Given the description of an element on the screen output the (x, y) to click on. 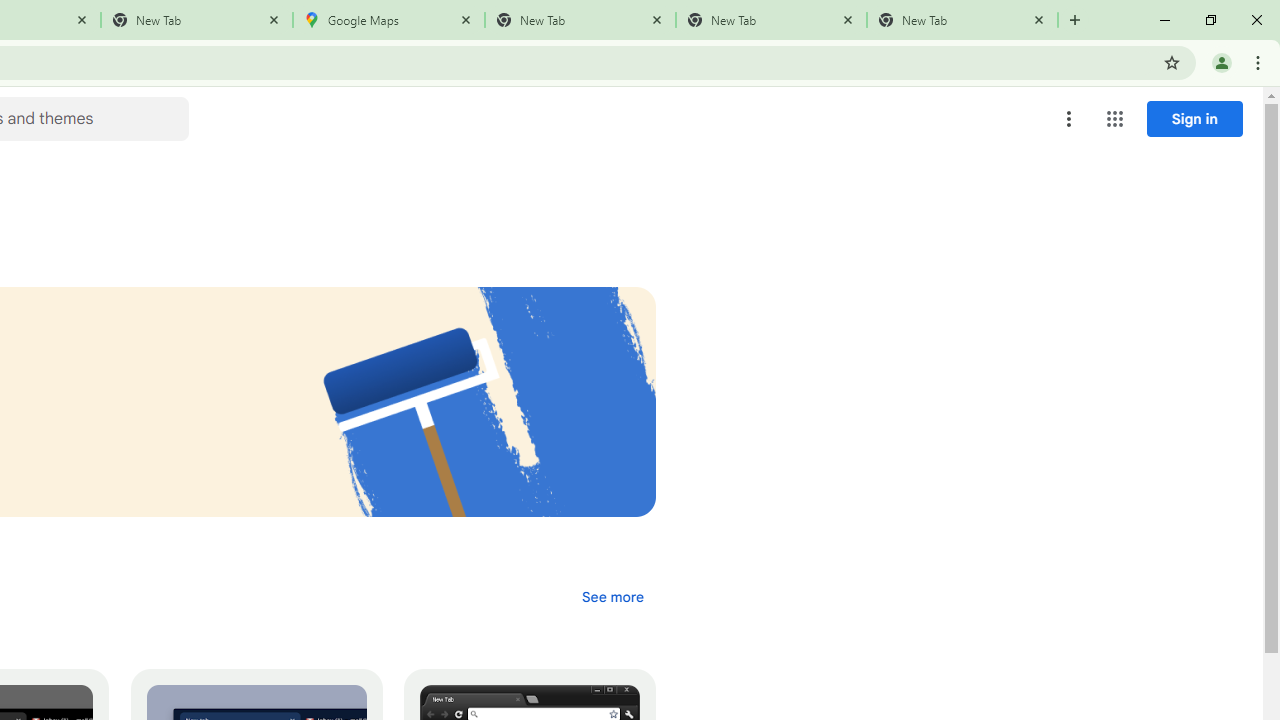
New Tab (197, 20)
Google Maps (389, 20)
More options menu (1069, 118)
See more of the "Dark & black themes" collection (612, 596)
New Tab (580, 20)
New Tab (962, 20)
